Given the description of an element on the screen output the (x, y) to click on. 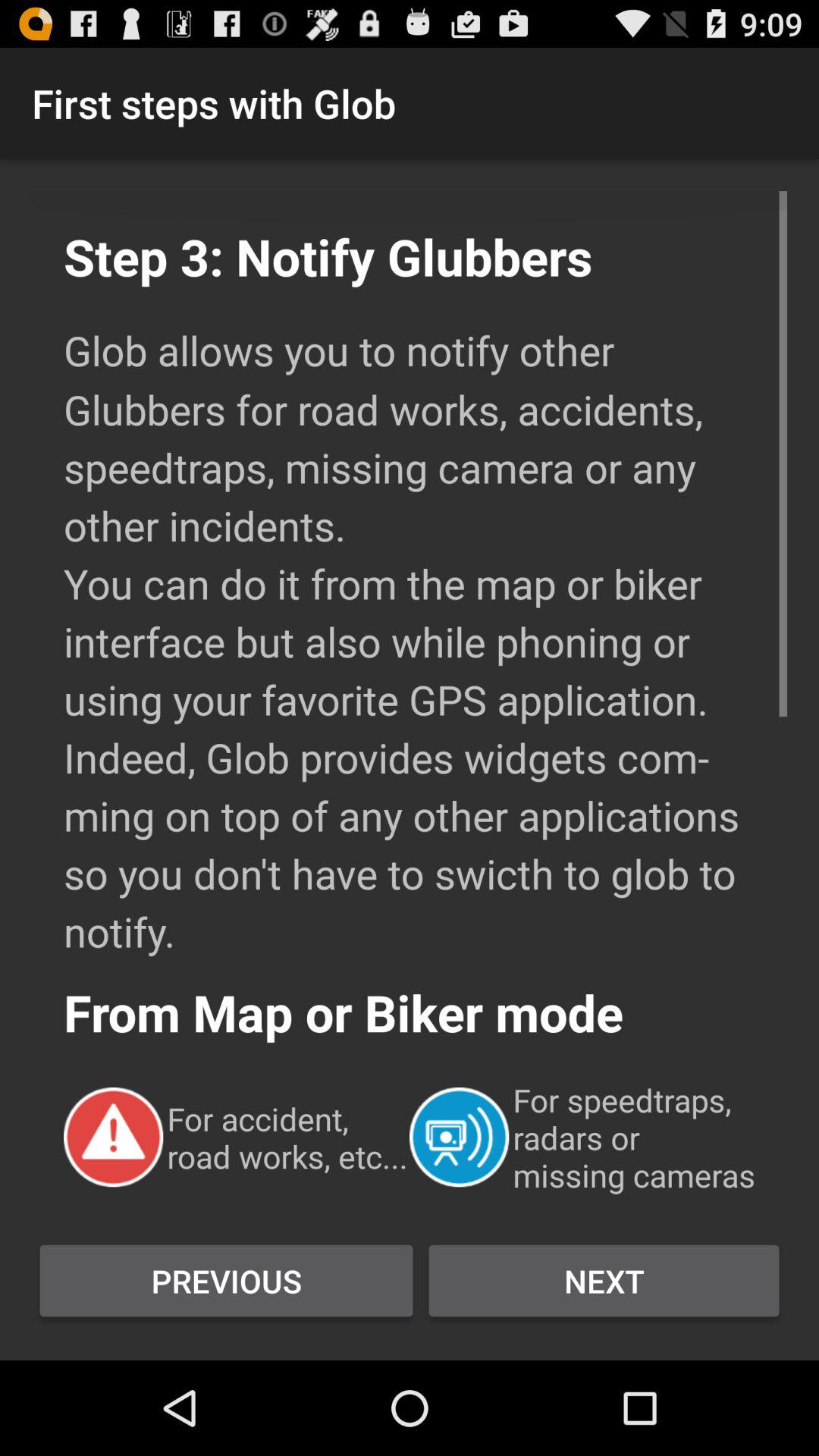
scroll until previous button (225, 1280)
